Given the description of an element on the screen output the (x, y) to click on. 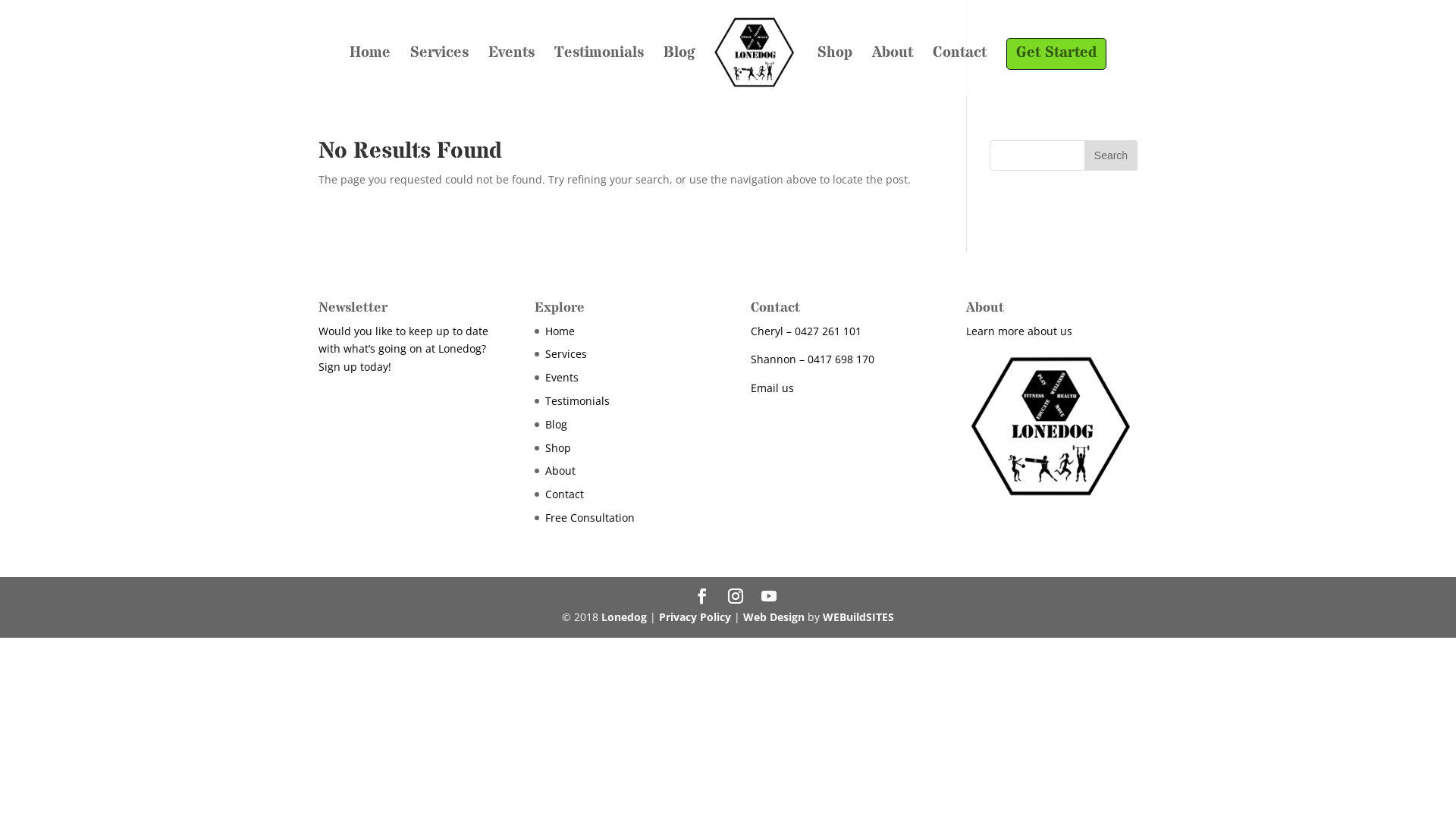
Privacy Policy Element type: text (694, 616)
Email us Element type: text (771, 387)
WEBuildSITES Element type: text (858, 616)
Lonedog Element type: text (623, 616)
About Element type: text (560, 470)
Events Element type: text (561, 377)
Contact Element type: text (564, 493)
Events Element type: text (511, 71)
Shop Element type: text (558, 447)
Blog Element type: text (679, 71)
Home Element type: text (369, 71)
Home Element type: text (559, 330)
Get Started Element type: text (1056, 71)
About Element type: text (892, 71)
Search Element type: text (1110, 155)
Services Element type: text (565, 353)
Learn more about us Element type: text (1019, 330)
Shop Element type: text (834, 71)
Web Design Element type: text (773, 616)
Free Consultation Element type: text (589, 517)
Testimonials Element type: text (577, 400)
Services Element type: text (439, 71)
Testimonials Element type: text (598, 71)
Contact Element type: text (959, 71)
Blog Element type: text (556, 424)
